Given the description of an element on the screen output the (x, y) to click on. 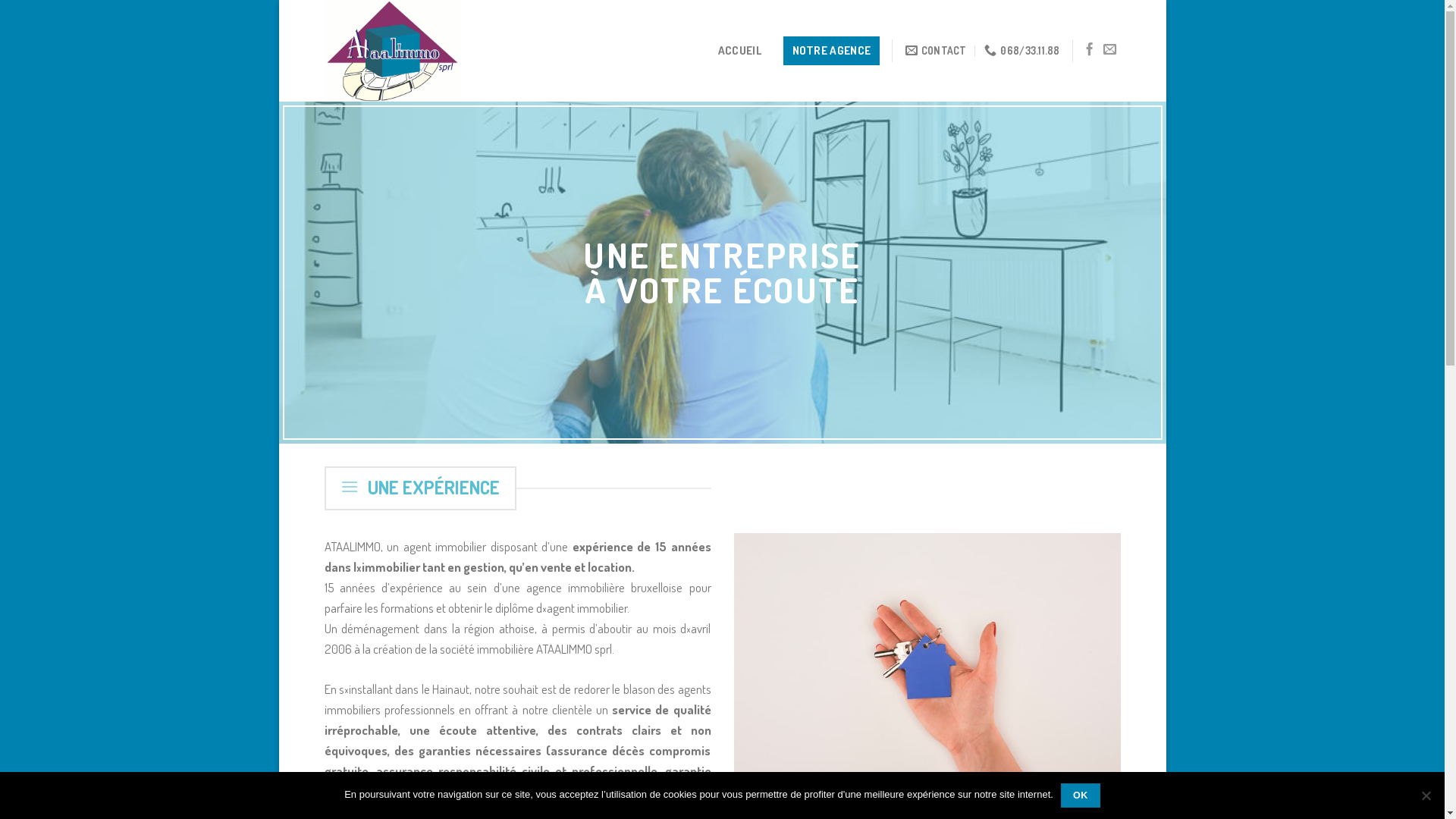
CONTACT Element type: text (935, 50)
068/33.11.88 Element type: text (1022, 50)
No Element type: hover (1425, 795)
OK Element type: text (1080, 795)
ACCUEIL Element type: text (739, 50)
Nous envoyer un email Element type: hover (1109, 49)
Nous suivre sur Facebook Element type: hover (1088, 49)
NOTRE AGENCE Element type: text (830, 50)
